Given the description of an element on the screen output the (x, y) to click on. 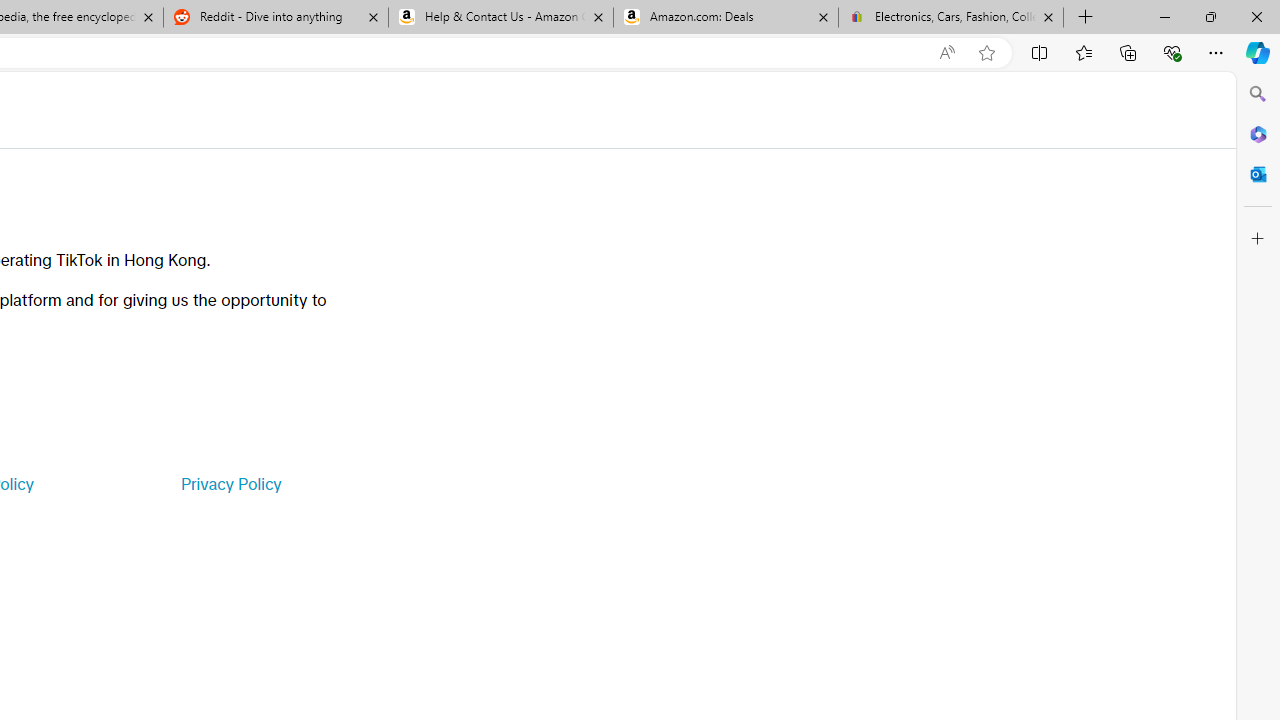
Reddit - Dive into anything (275, 17)
Help & Contact Us - Amazon Customer Service (501, 17)
